Given the description of an element on the screen output the (x, y) to click on. 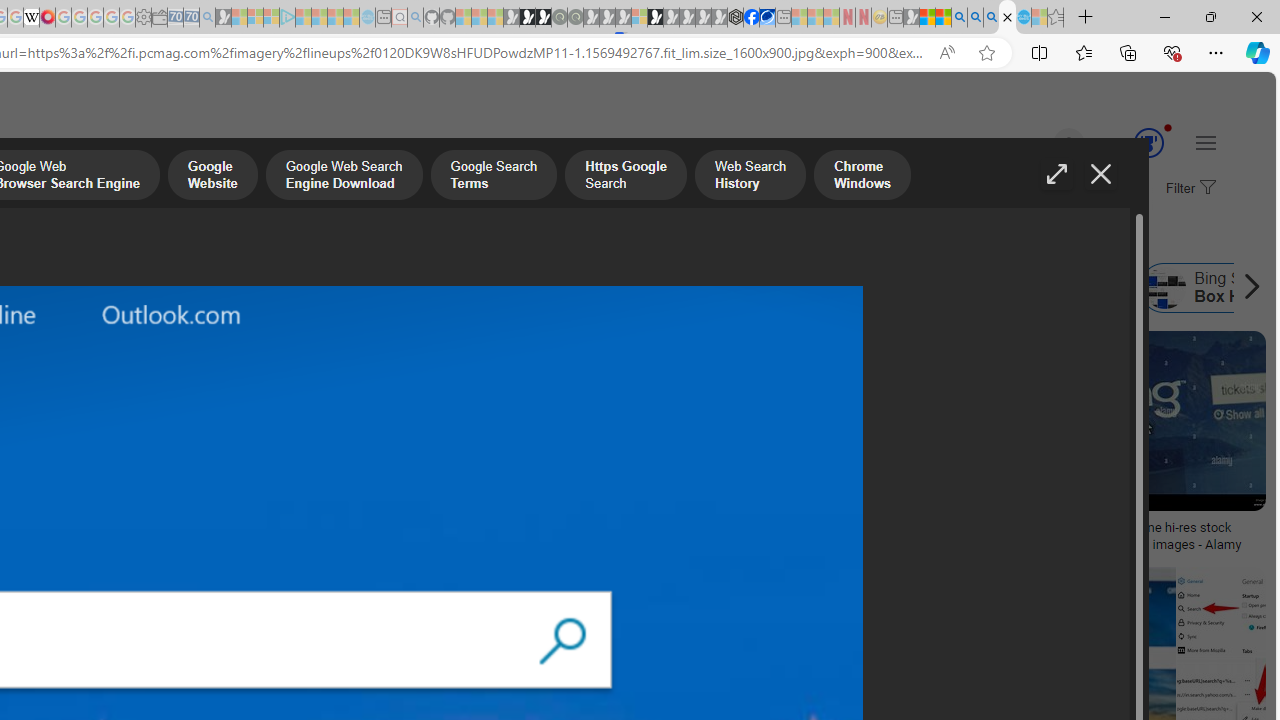
Favorites - Sleeping (1055, 17)
Old Bing (319, 287)
Who Made Bing Search Engine (434, 287)
MSN - Sleeping (911, 17)
Image result for Bing Search Site (1221, 611)
Bing Hoodies (132, 460)
Hoodies (132, 460)
Bing Search Box History (1165, 287)
Services - Maintenance | Sky Blue Bikes - Sky Blue Bikes (1023, 17)
